Given the description of an element on the screen output the (x, y) to click on. 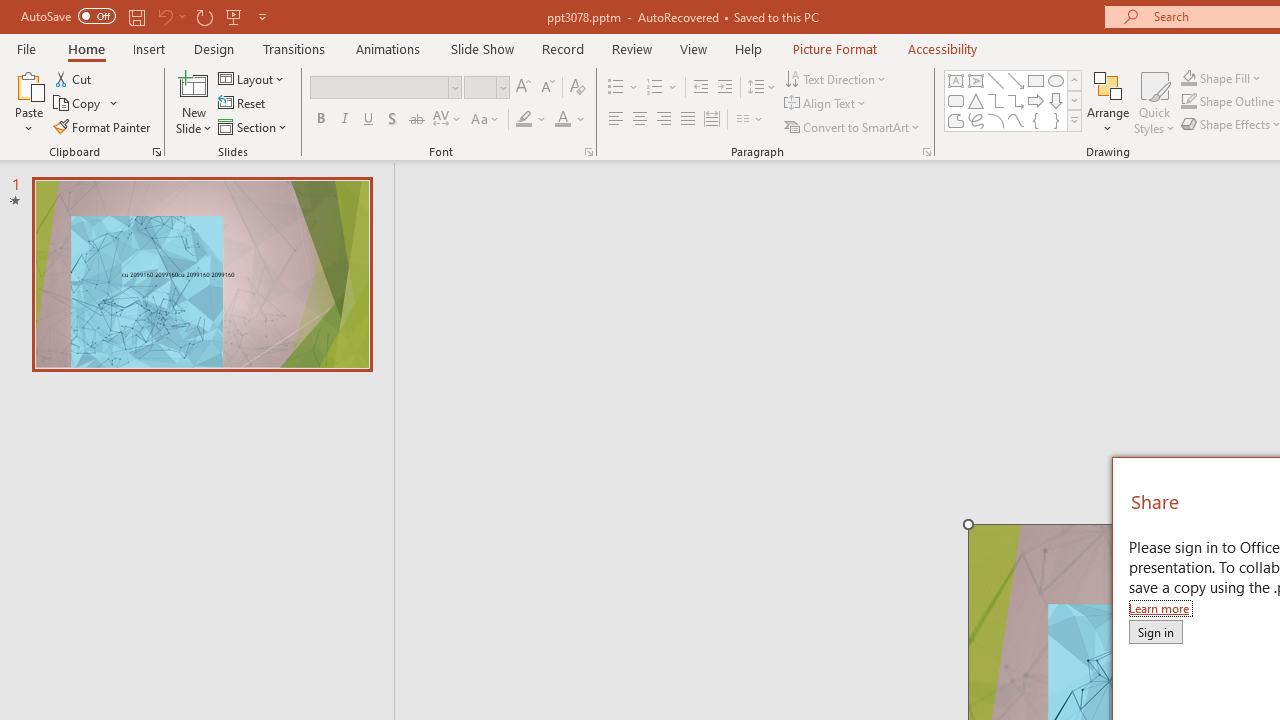
Sign in (1155, 631)
